Given the description of an element on the screen output the (x, y) to click on. 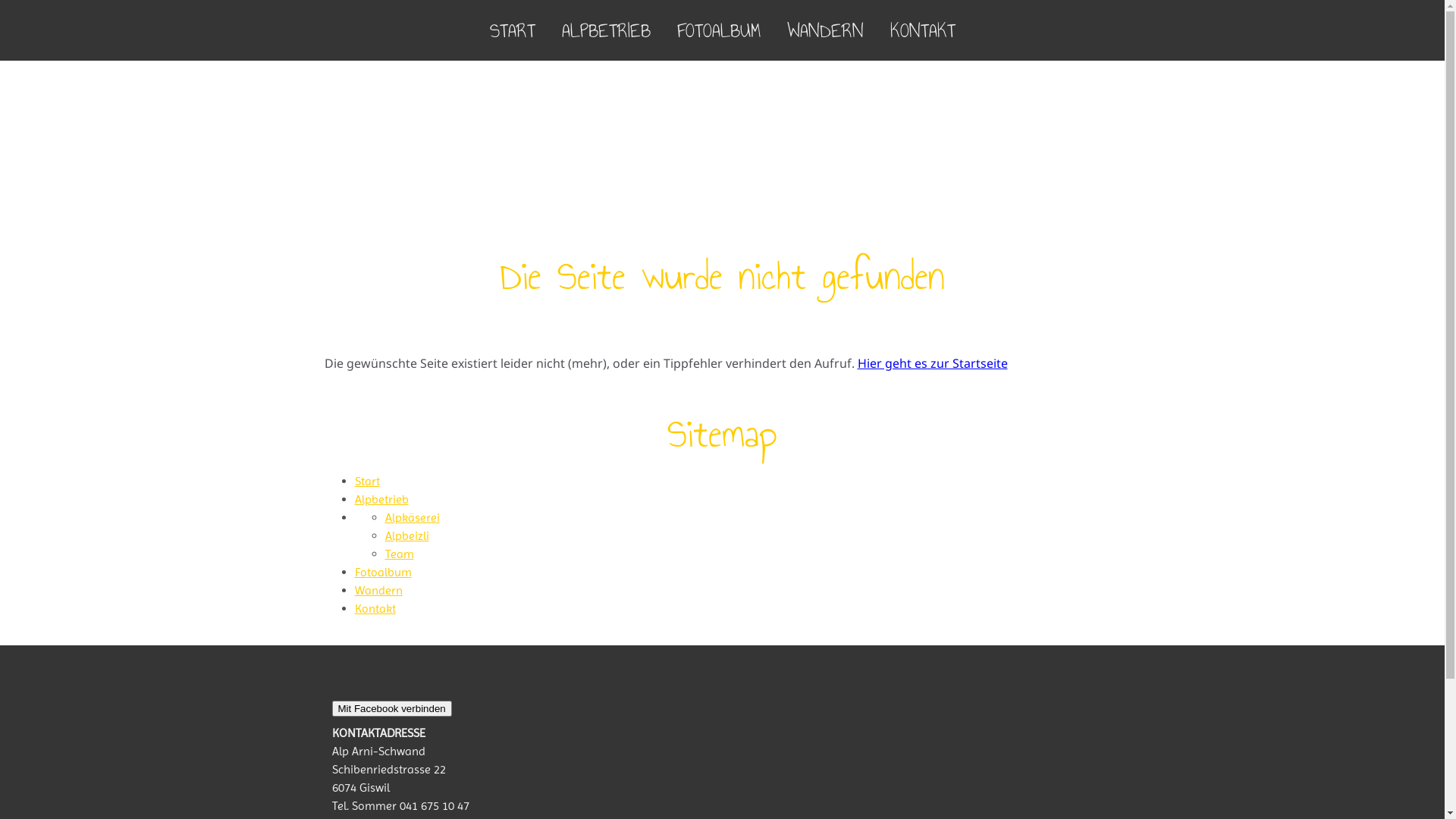
Mit Facebook verbinden Element type: text (391, 708)
START Element type: text (511, 29)
WANDERN Element type: text (824, 29)
Wandern Element type: text (378, 590)
KONTAKT Element type: text (922, 29)
Alpbeizli Element type: text (407, 535)
ALPBETRIEB Element type: text (606, 29)
Start Element type: text (366, 480)
FOTOALBUM Element type: text (718, 29)
Team Element type: text (399, 553)
Kontakt Element type: text (374, 608)
Hier geht es zur Startseite Element type: text (931, 362)
Alpbetrieb Element type: text (381, 499)
Fotoalbum Element type: text (382, 571)
